Given the description of an element on the screen output the (x, y) to click on. 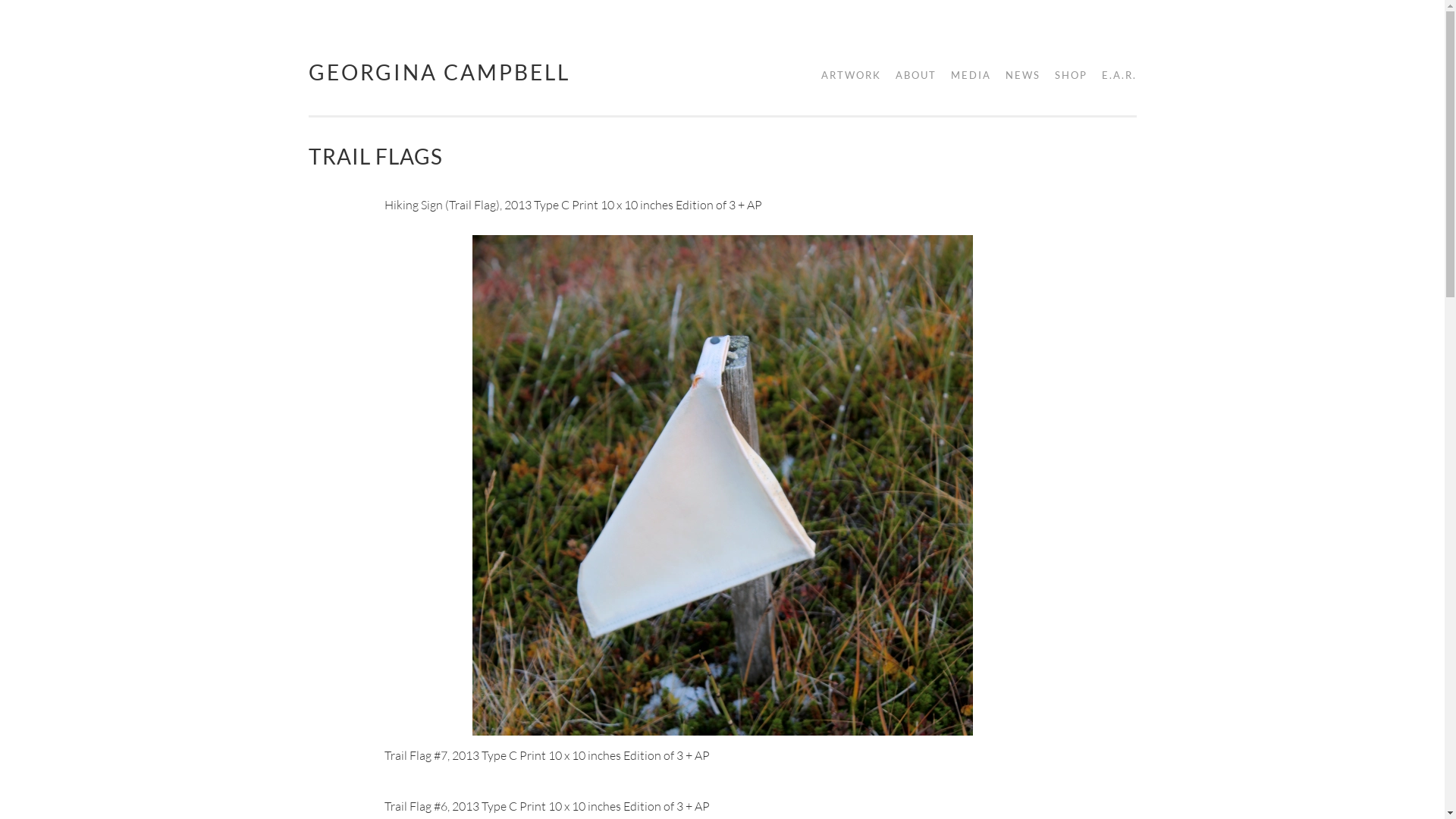
SHOP Element type: text (1064, 75)
ARTWORK Element type: text (844, 75)
E.A.R. Element type: text (1112, 75)
ABOUT Element type: text (909, 75)
NEWS Element type: text (1017, 75)
MEDIA Element type: text (965, 75)
GEORGINA CAMPBELL Element type: text (438, 71)
